Given the description of an element on the screen output the (x, y) to click on. 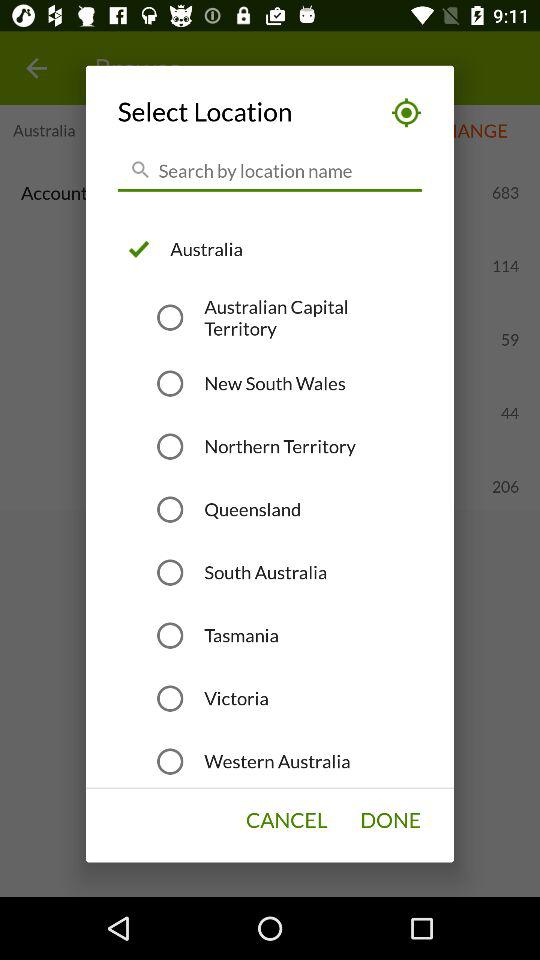
turn off the tasmania icon (241, 635)
